Given the description of an element on the screen output the (x, y) to click on. 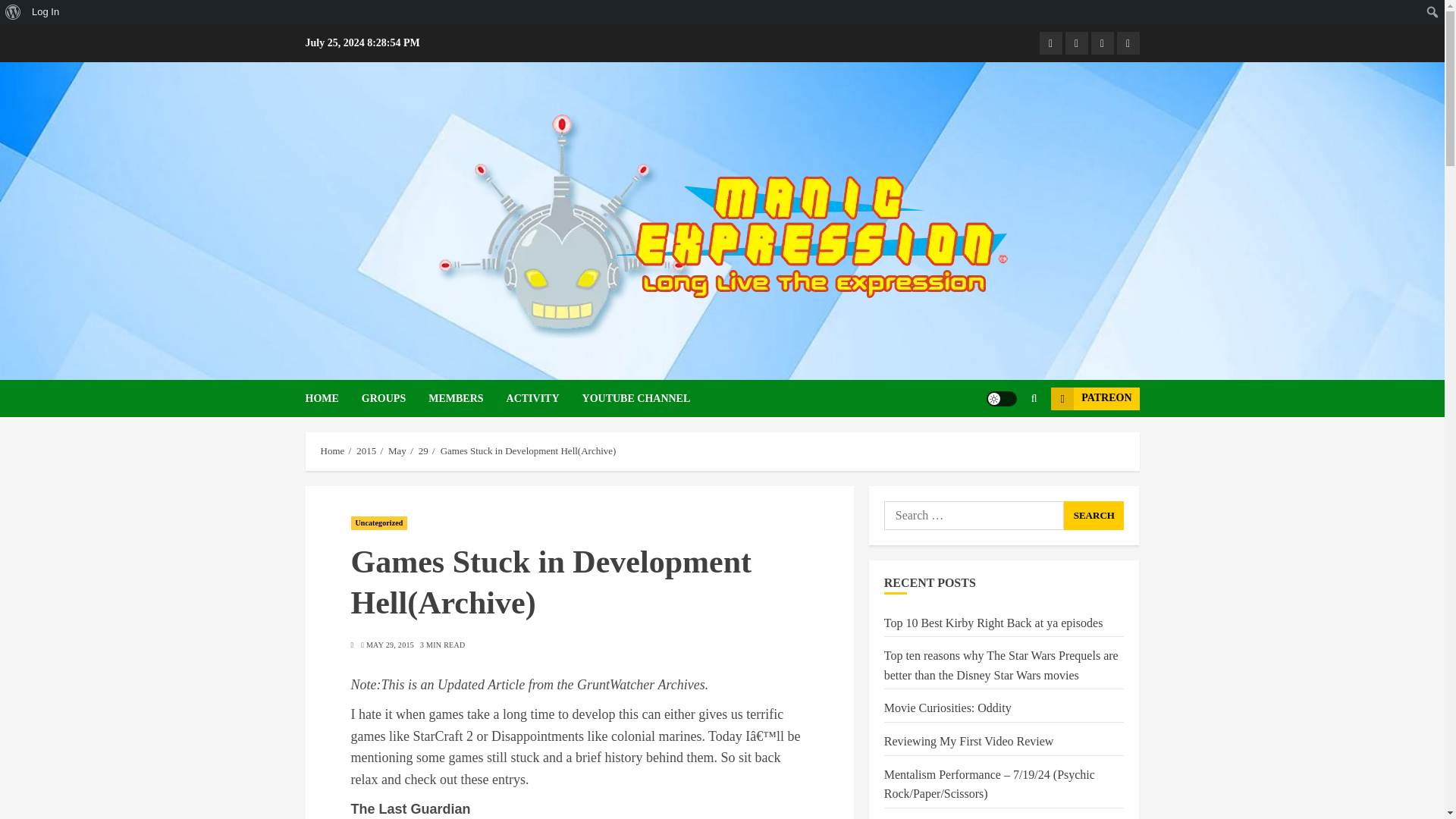
HOME (332, 398)
May (397, 451)
ACTIVITY (544, 398)
Twitter (1127, 42)
GROUPS (394, 398)
Search (15, 12)
YOUTUBE CHANNEL (636, 398)
MEMBERS (466, 398)
MAY 29, 2015 (389, 644)
Facebook page (1050, 42)
Search (1004, 443)
Search (1094, 515)
Uncategorized (378, 522)
Search (1094, 515)
PATREON (1094, 397)
